Given the description of an element on the screen output the (x, y) to click on. 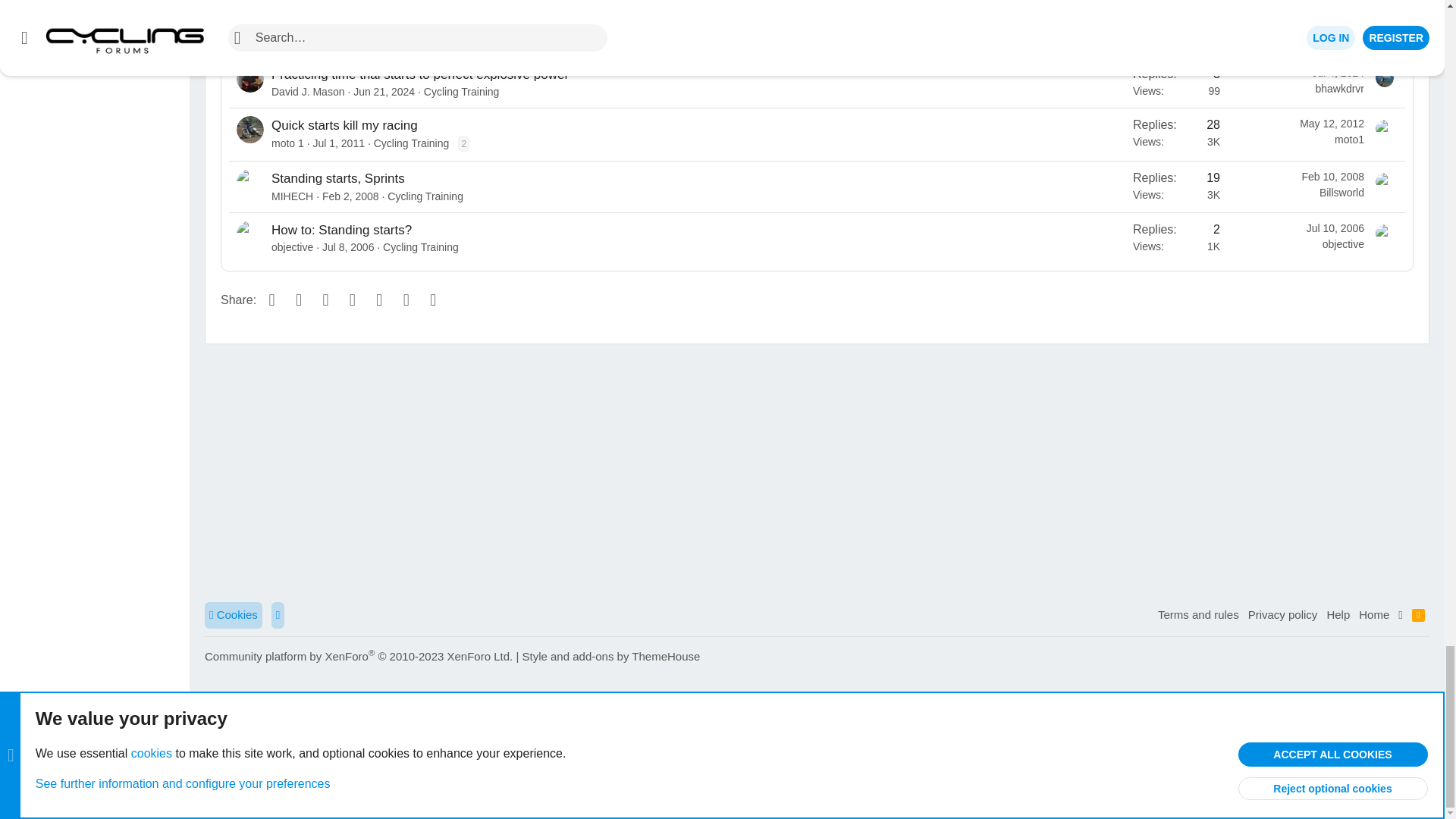
First message reaction score: 0 (1176, 30)
Oct 19, 2006 at 11:15 PM (376, 40)
